Given the description of an element on the screen output the (x, y) to click on. 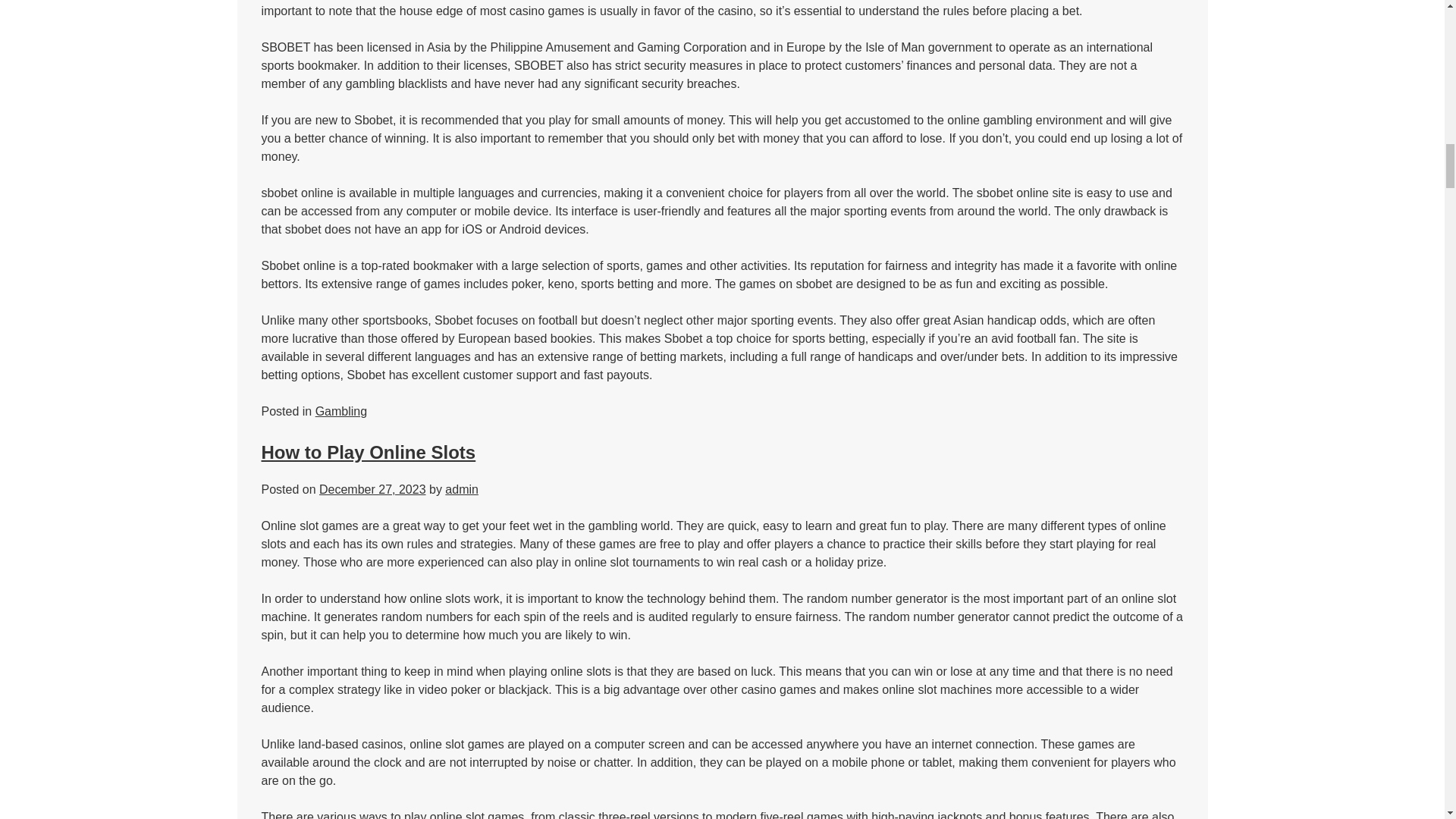
Gambling (340, 410)
admin (462, 489)
December 27, 2023 (372, 489)
How to Play Online Slots (368, 451)
